Given the description of an element on the screen output the (x, y) to click on. 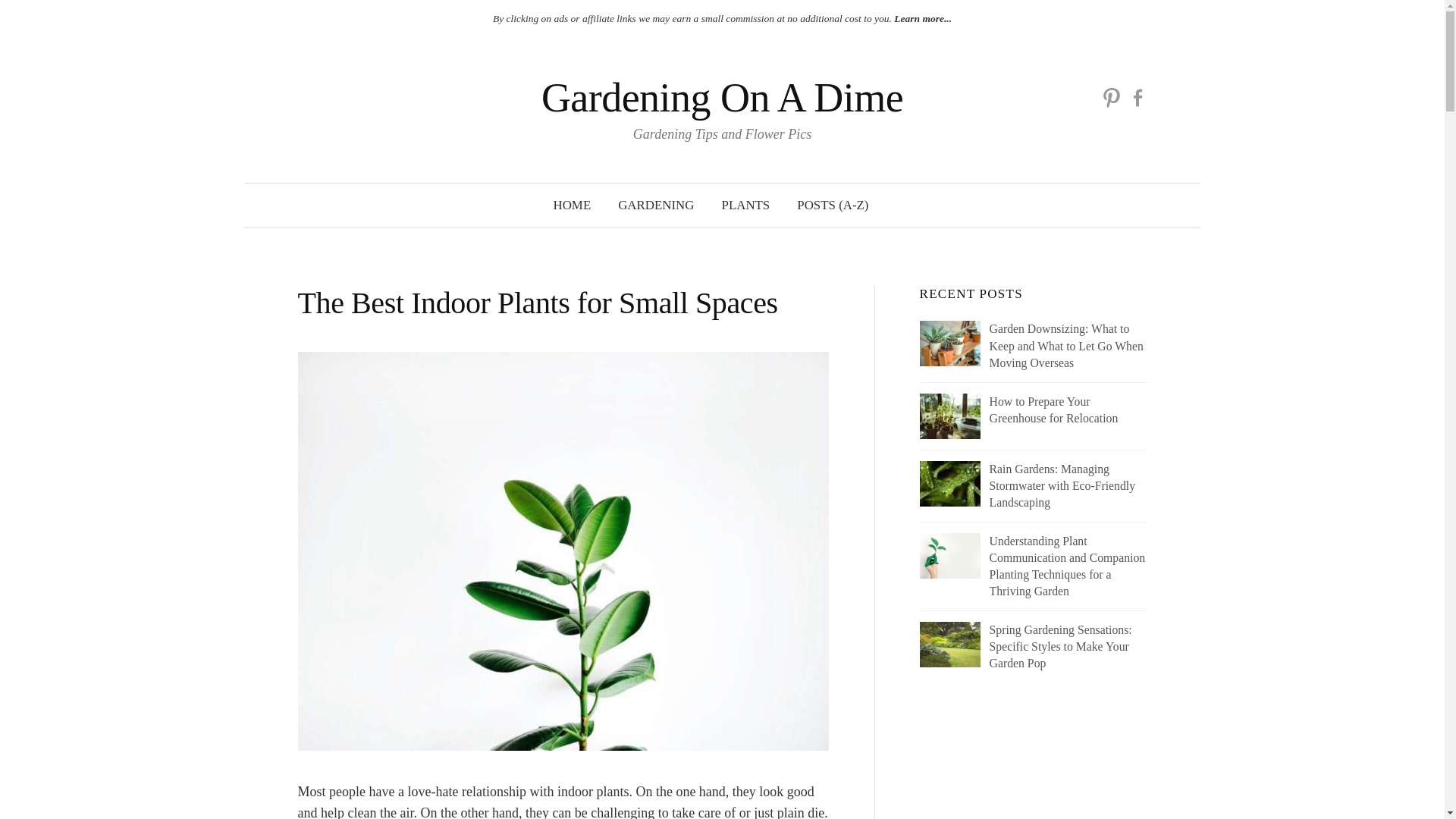
How to Prepare Your Greenhouse for Relocation (1033, 409)
Facebook (1136, 97)
Learn more... (921, 17)
Gardening On A Dime (721, 97)
Learn more... (921, 17)
PLANTS (745, 205)
Pinterest (1111, 97)
